Given the description of an element on the screen output the (x, y) to click on. 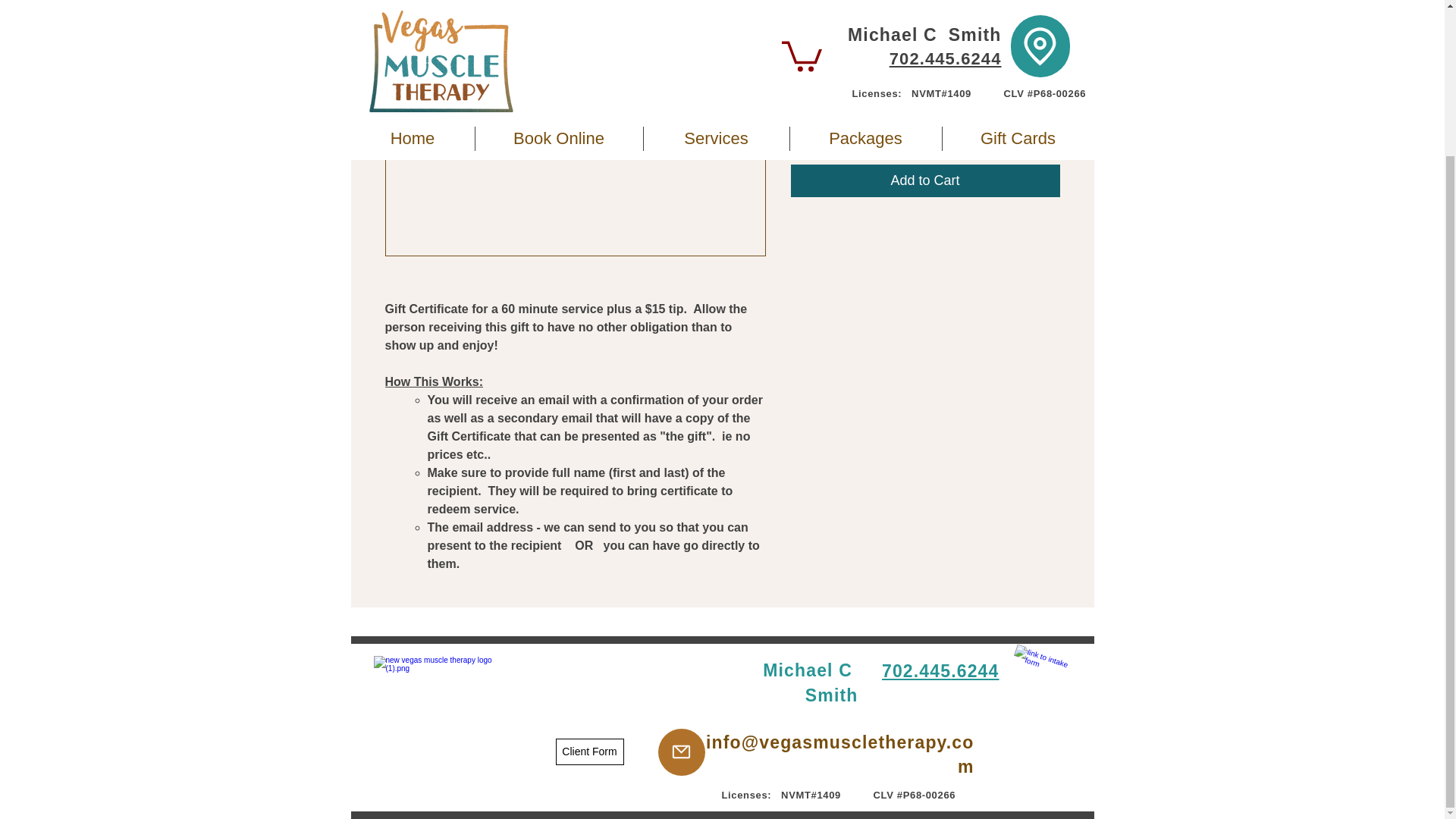
Client Form (588, 751)
702.445.6244 (940, 670)
Michael C  Smith (809, 682)
Add to Cart (924, 180)
1 (818, 121)
